Given the description of an element on the screen output the (x, y) to click on. 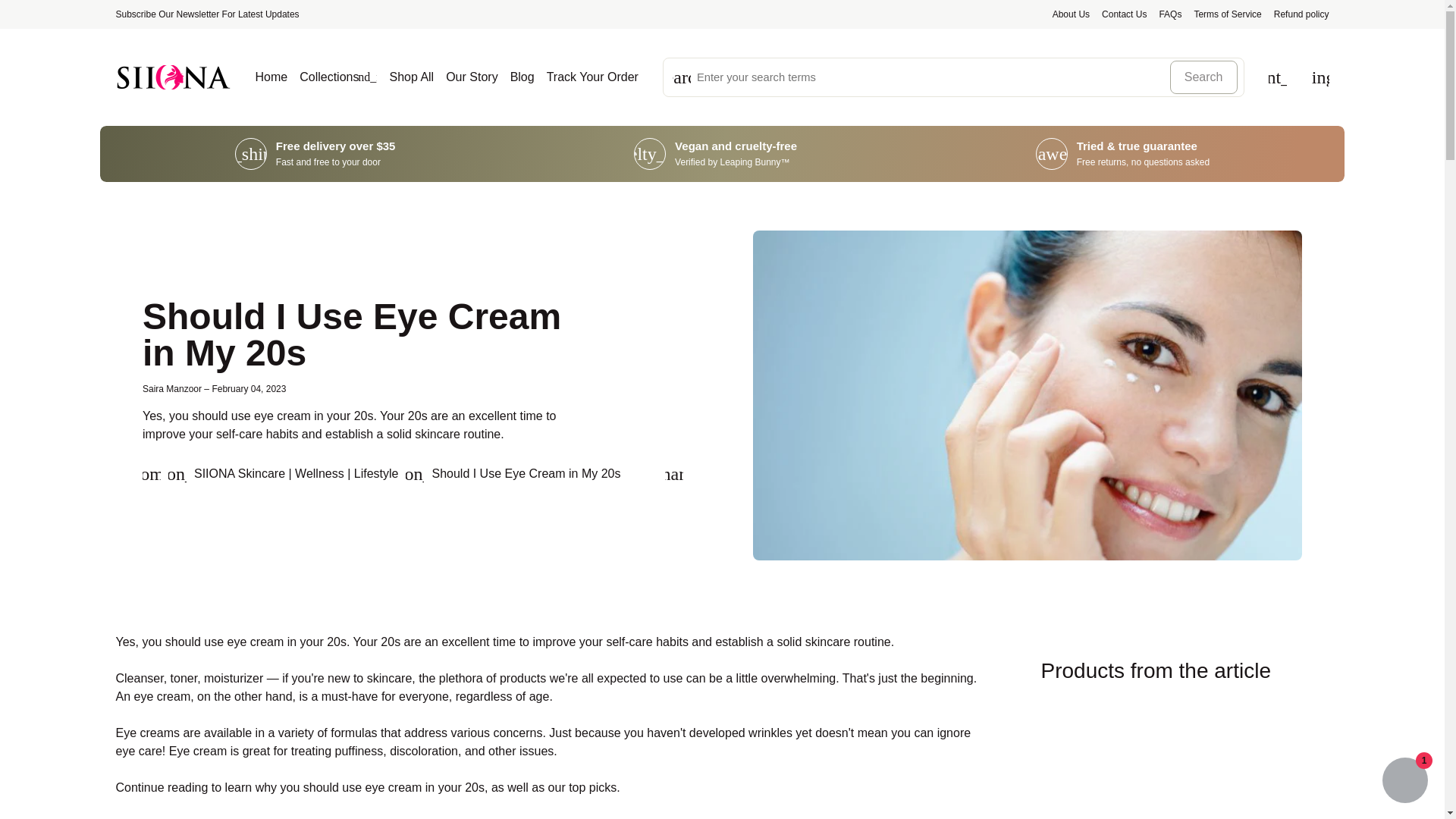
Home (172, 77)
FAQs (1169, 14)
Our Story (471, 77)
Shopify online store chat (1404, 781)
Terms of Service (1226, 14)
Search (1203, 77)
Home (151, 474)
Shop All (410, 77)
Track Your Order (593, 77)
Refund policy (1301, 14)
Contact Us (1124, 14)
About Us (1070, 14)
